Given the description of an element on the screen output the (x, y) to click on. 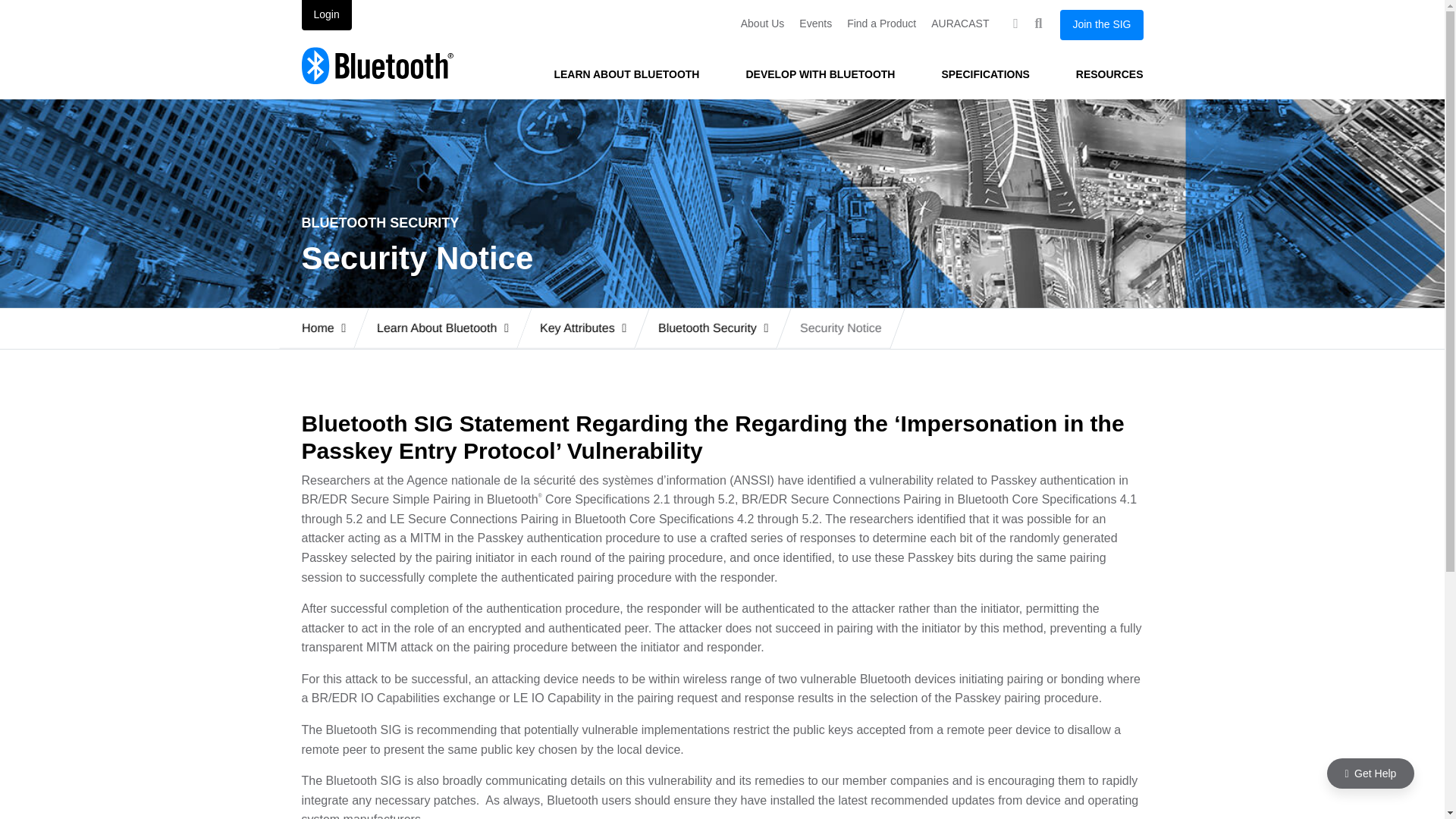
LEARN ABOUT BLUETOOTH (626, 74)
Join the SIG (1100, 24)
Language (1015, 23)
Login (326, 15)
Search (1037, 23)
